Given the description of an element on the screen output the (x, y) to click on. 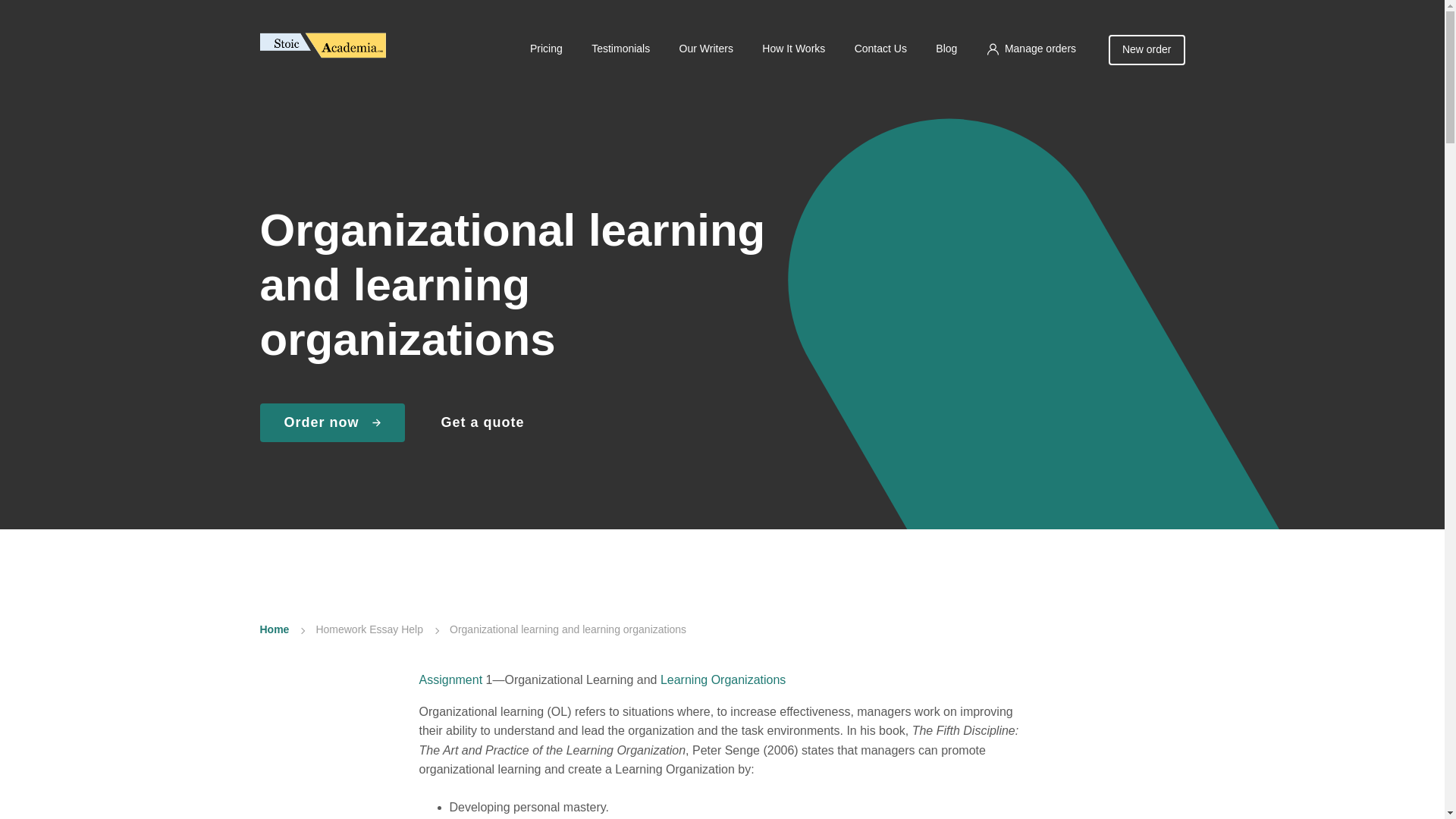
Order now (331, 423)
Our Writers (706, 48)
Learning Organizations (723, 679)
Blog (946, 48)
Get a quote (482, 423)
Contact Us (880, 48)
Assignment (450, 679)
Testimonials (620, 48)
Home (273, 629)
How It Works (793, 48)
Manage orders (1031, 49)
New order (1146, 50)
Pricing (545, 48)
